Given the description of an element on the screen output the (x, y) to click on. 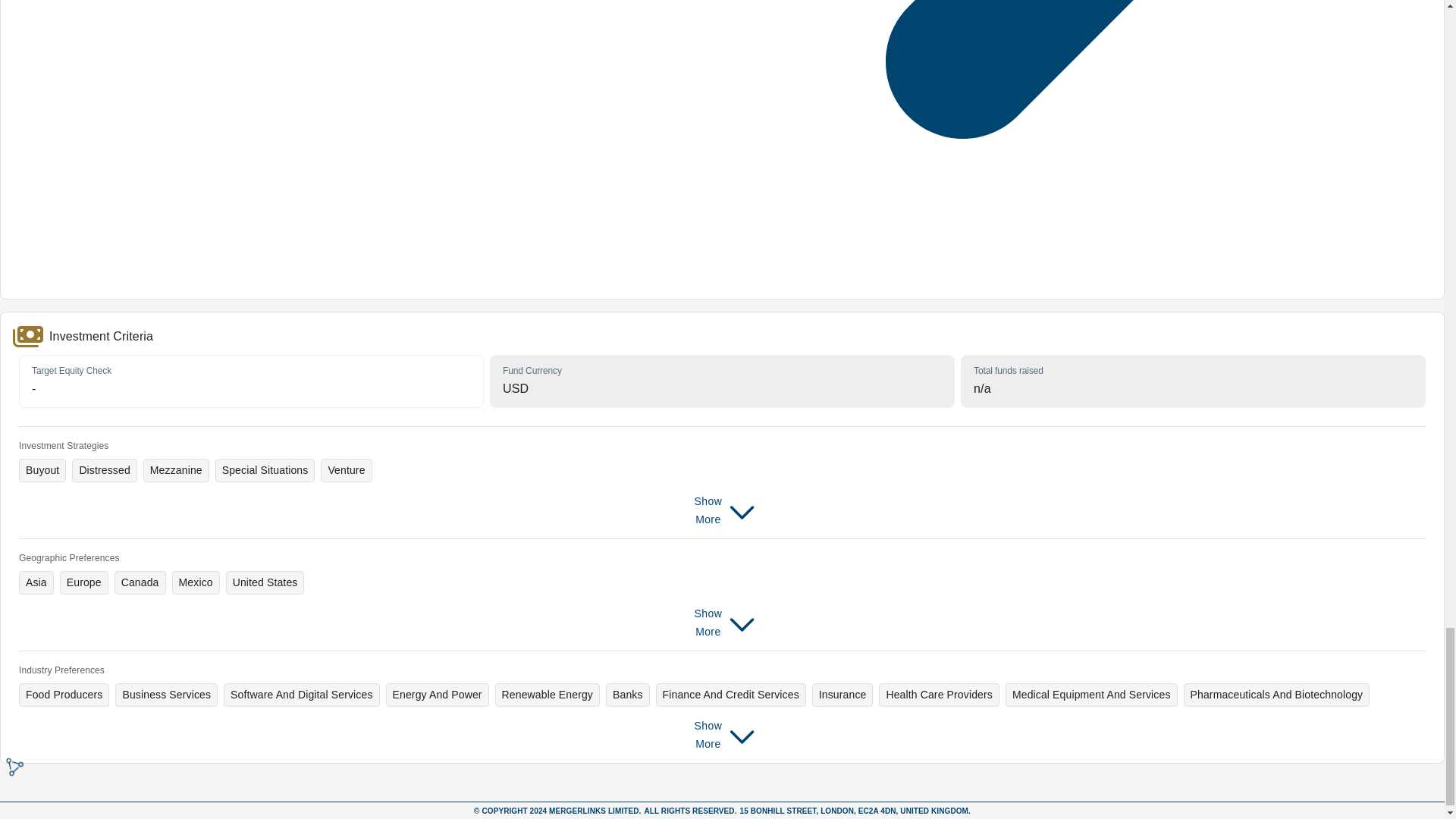
logo-color (16, 769)
Show More (721, 510)
Show More (721, 622)
Show More (721, 734)
